Given the description of an element on the screen output the (x, y) to click on. 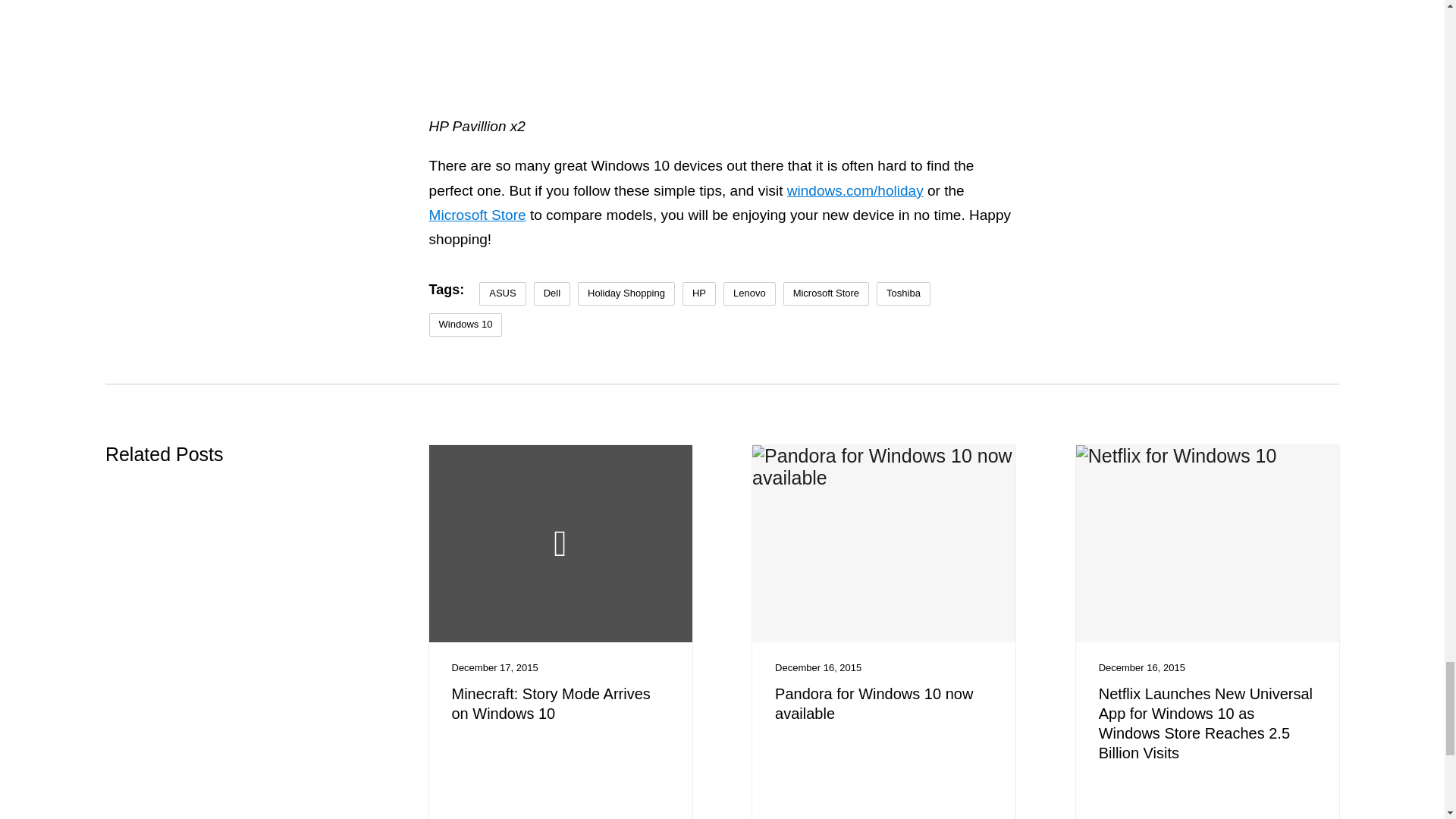
Microsoft Store Tag (826, 293)
Toshiba Tag (903, 293)
ASUS Tag (502, 293)
Windows 10 Tag (465, 324)
Dell Tag (552, 293)
Holiday Shopping Tag (626, 293)
HP Tag (699, 293)
Lenovo Tag (749, 293)
